Given the description of an element on the screen output the (x, y) to click on. 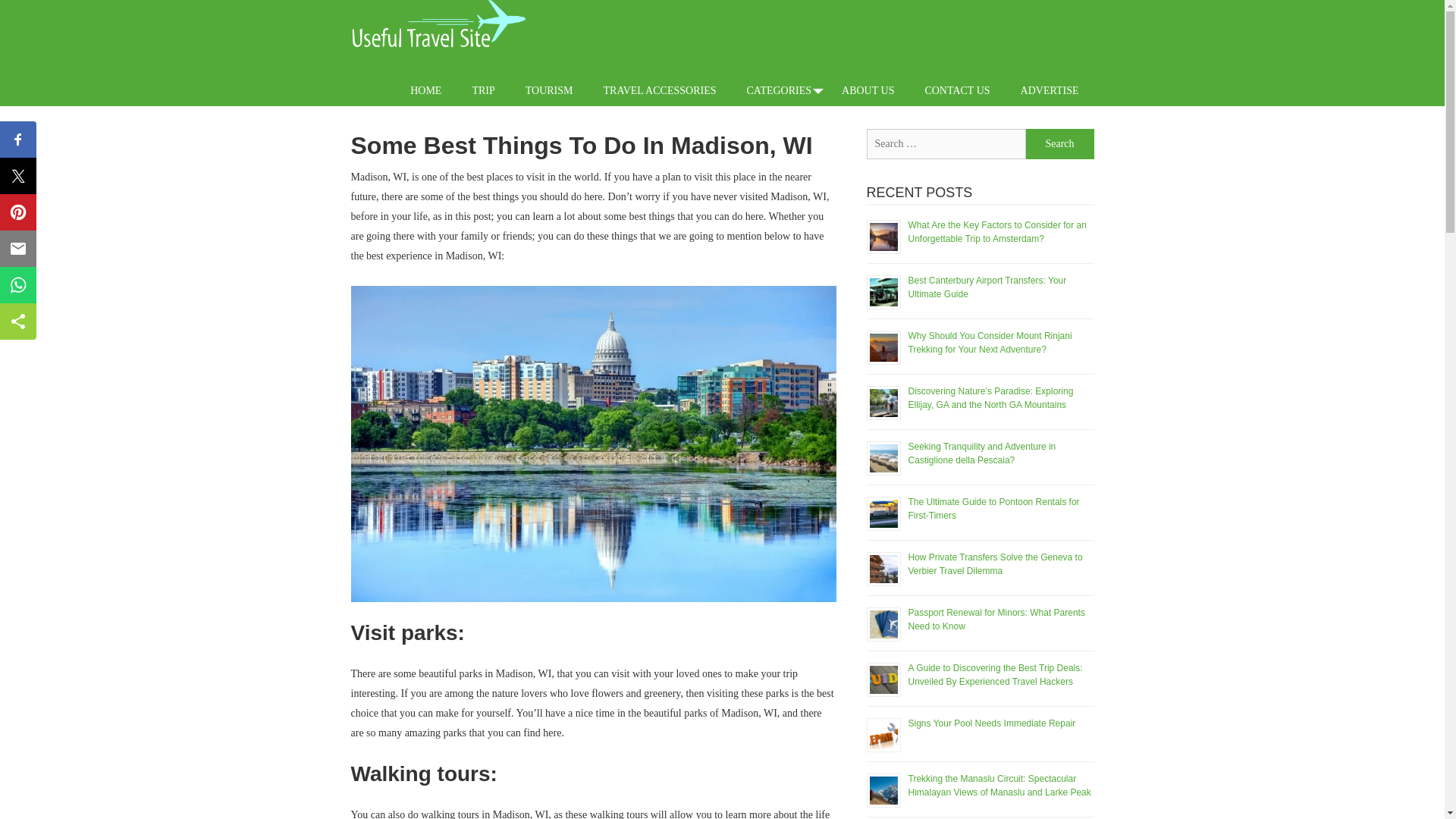
UseFul Travel Site (437, 26)
TRIP (483, 91)
ABOUT US (867, 91)
Search (1059, 143)
CONTACT US (956, 91)
HOME (425, 91)
ADVERTISE (1050, 91)
TOURISM (549, 91)
Search (1059, 143)
CATEGORIES (778, 91)
TRAVEL ACCESSORIES (660, 91)
